Given the description of an element on the screen output the (x, y) to click on. 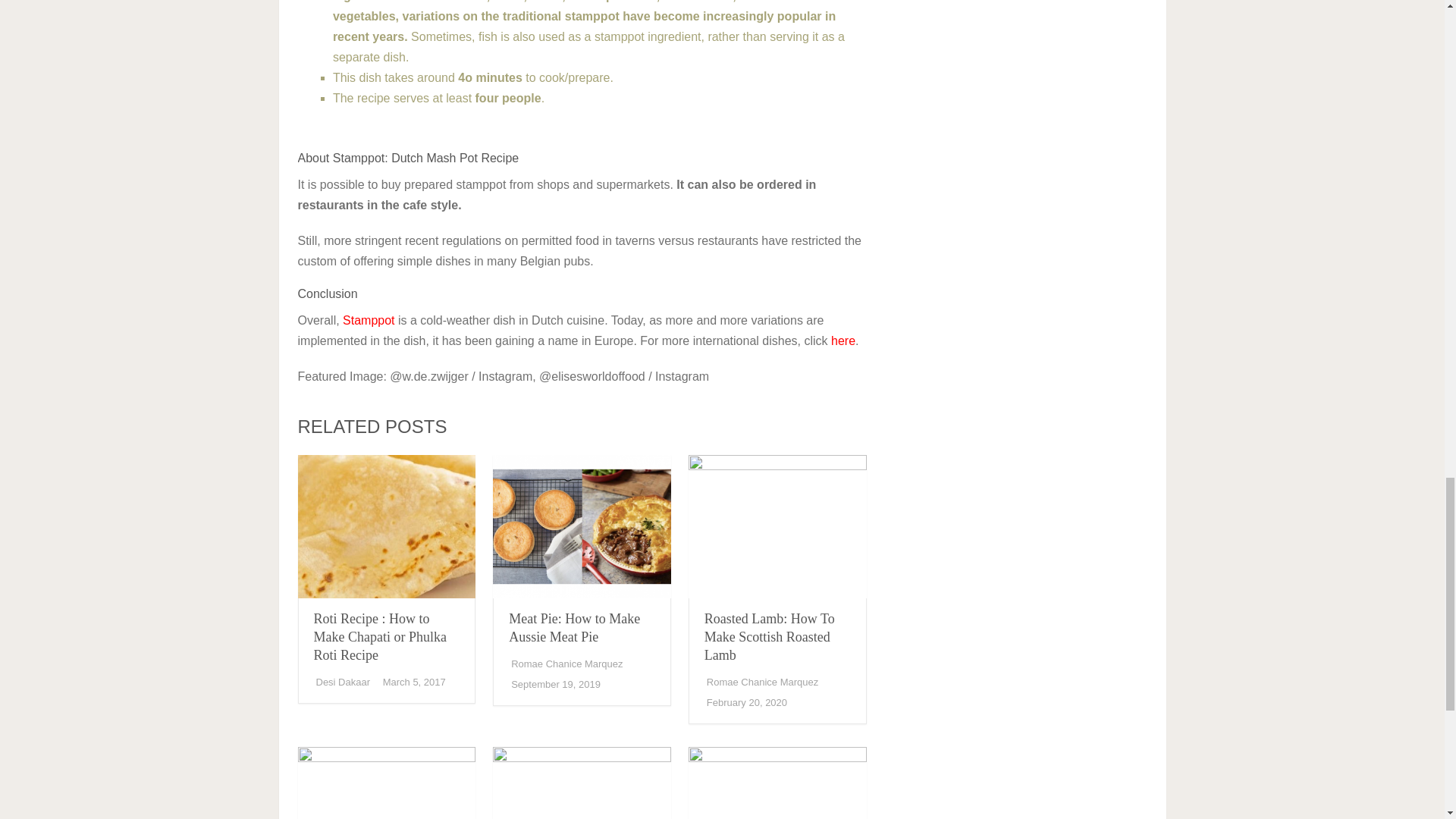
Posts by Romae Chanice Marquez (762, 681)
Stamppot (368, 319)
Get Free Samples of Healthy Frozen Pizza (386, 782)
Roasted Lamb: How To Make Scottish Roasted Lamb (769, 636)
Romae Chanice Marquez (567, 663)
here (843, 340)
Roti Recipe : How to Make Chapati or Phulka Roti Recipe (380, 636)
Desi Dakaar (342, 681)
Roti Recipe : How to Make Chapati or Phulka Roti Recipe (386, 526)
Roti Recipe : How to Make Chapati or Phulka Roti Recipe (380, 636)
Roasted Lamb: How To Make Scottish Roasted Lamb (769, 636)
Meat Pie: How to Make Aussie Meat Pie (574, 627)
Posts by Romae Chanice Marquez (567, 663)
Roasted Lamb: How To Make Scottish Roasted Lamb (777, 526)
Posts by Desi Dakaar (342, 681)
